Given the description of an element on the screen output the (x, y) to click on. 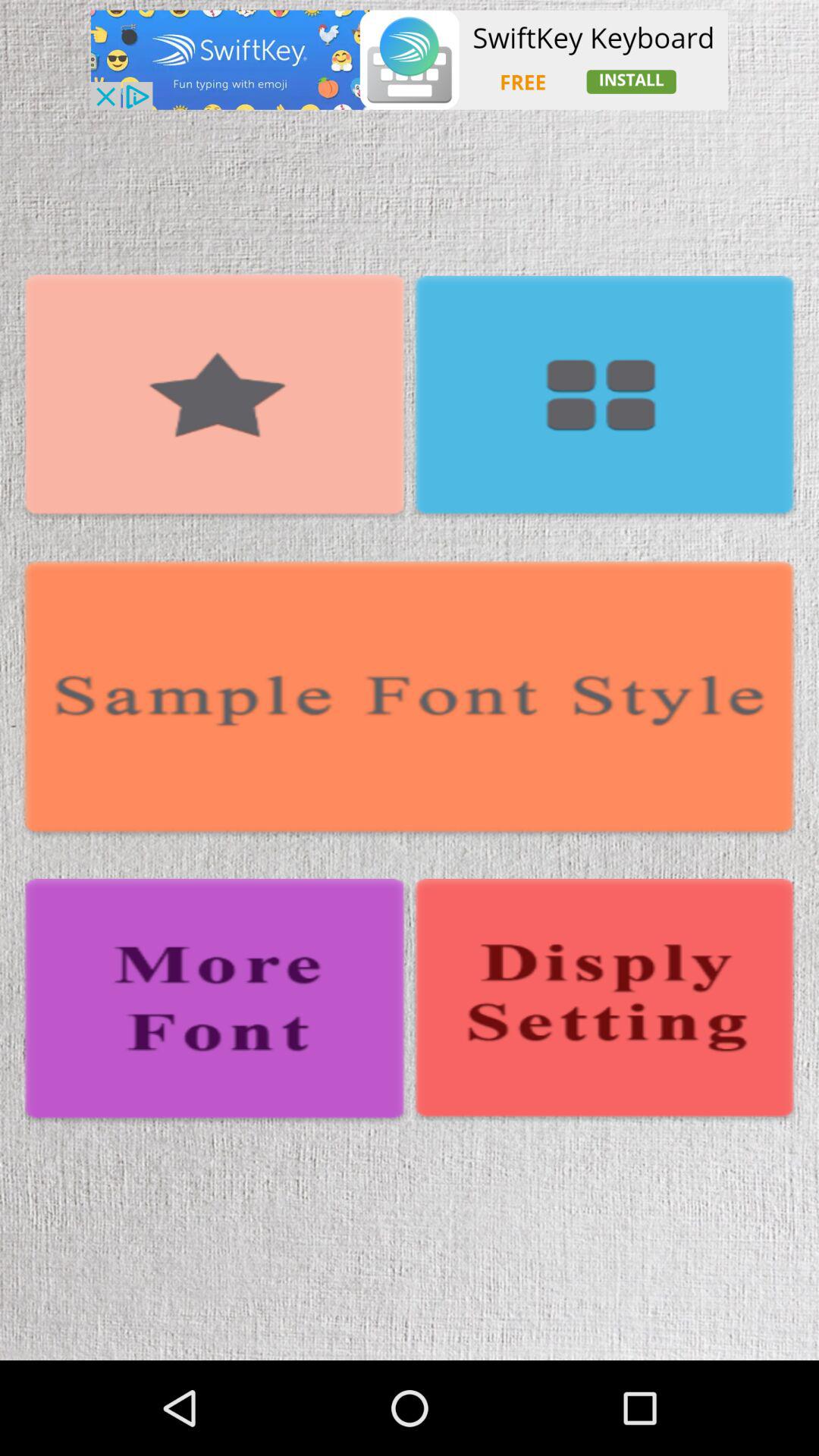
view more options (604, 397)
